Given the description of an element on the screen output the (x, y) to click on. 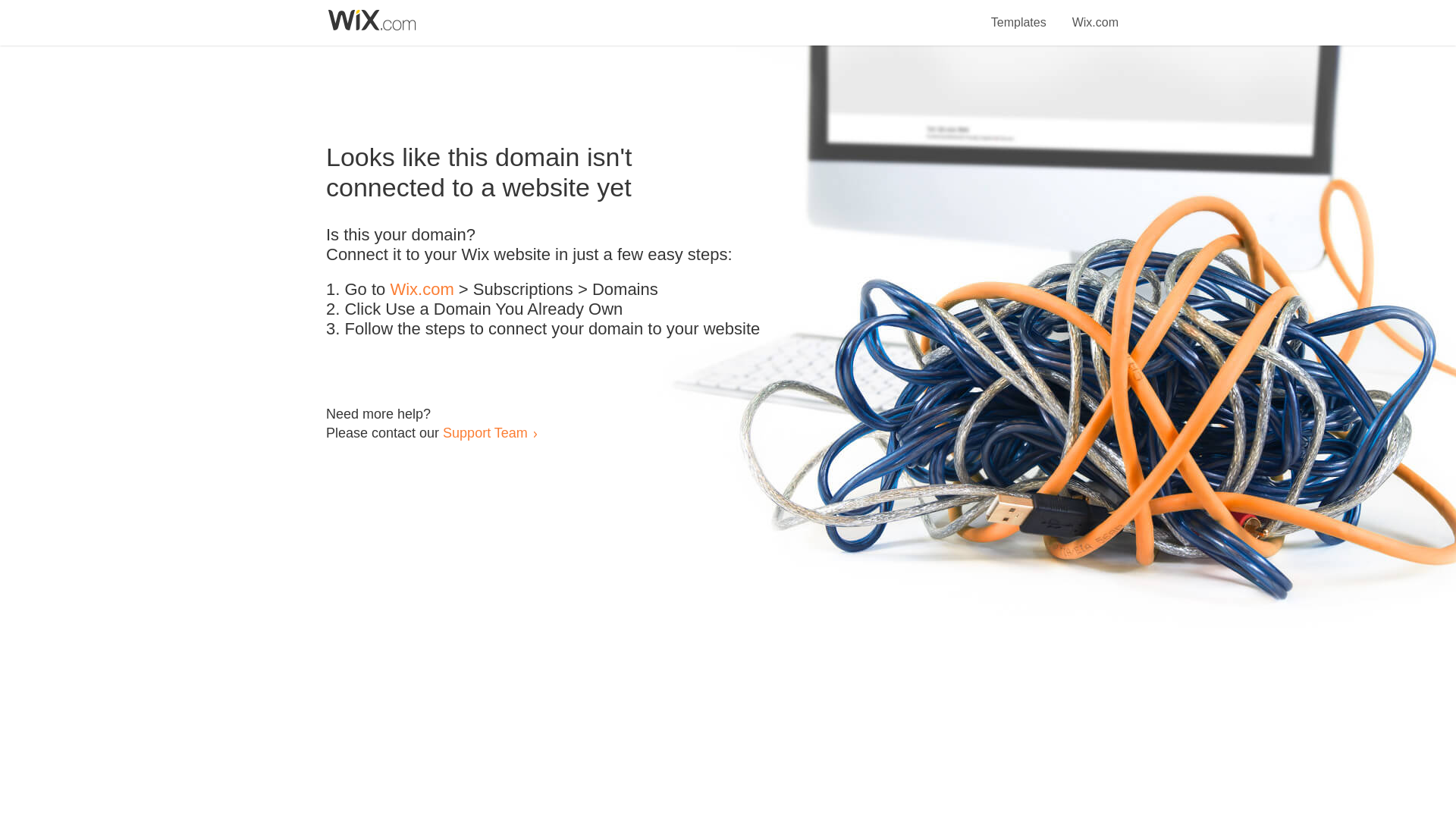
Templates (1018, 14)
Support Team (484, 432)
Wix.com (421, 289)
Wix.com (1095, 14)
